Given the description of an element on the screen output the (x, y) to click on. 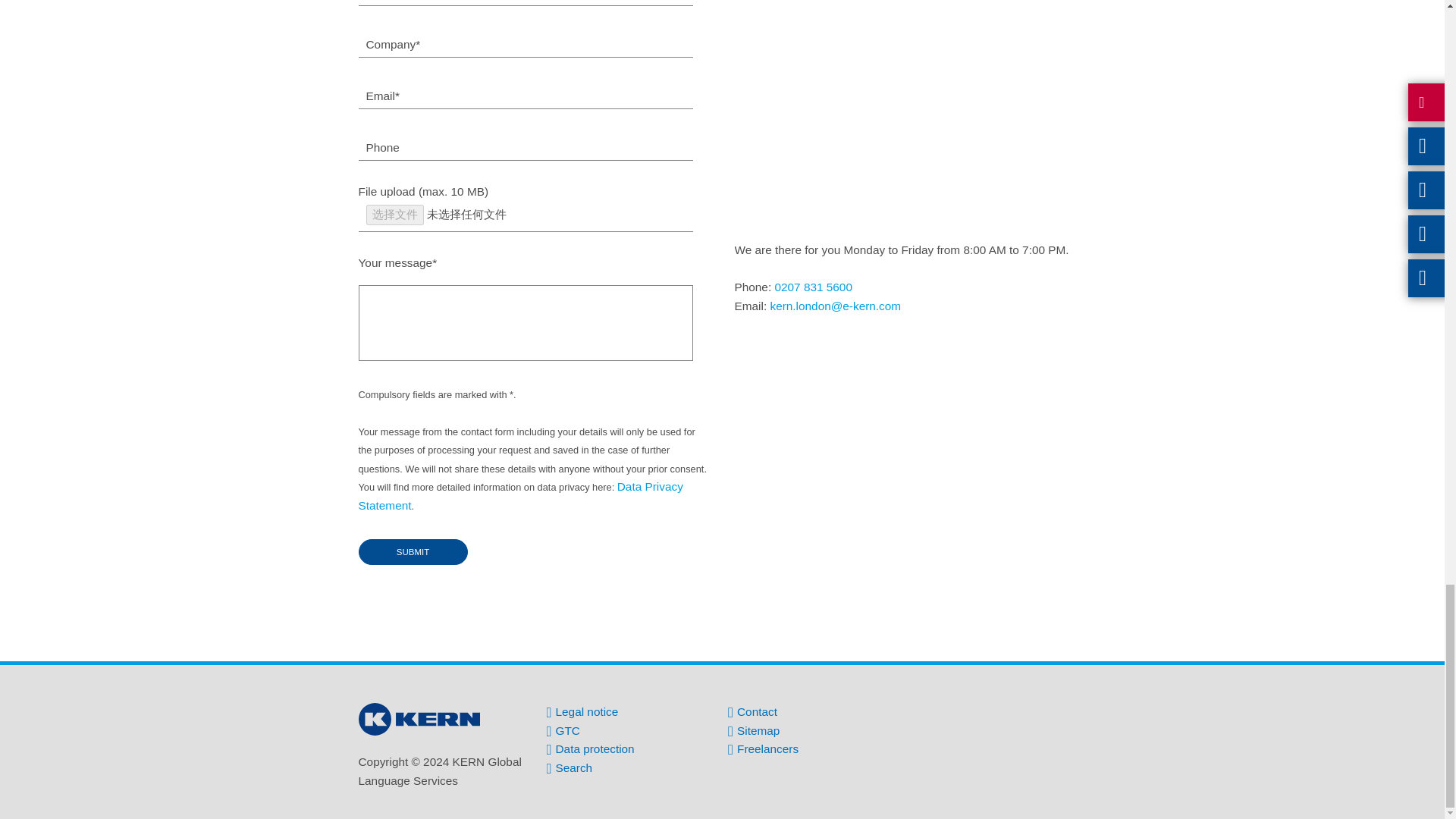
Submit (412, 551)
Data Privacy Statement (520, 495)
